Given the description of an element on the screen output the (x, y) to click on. 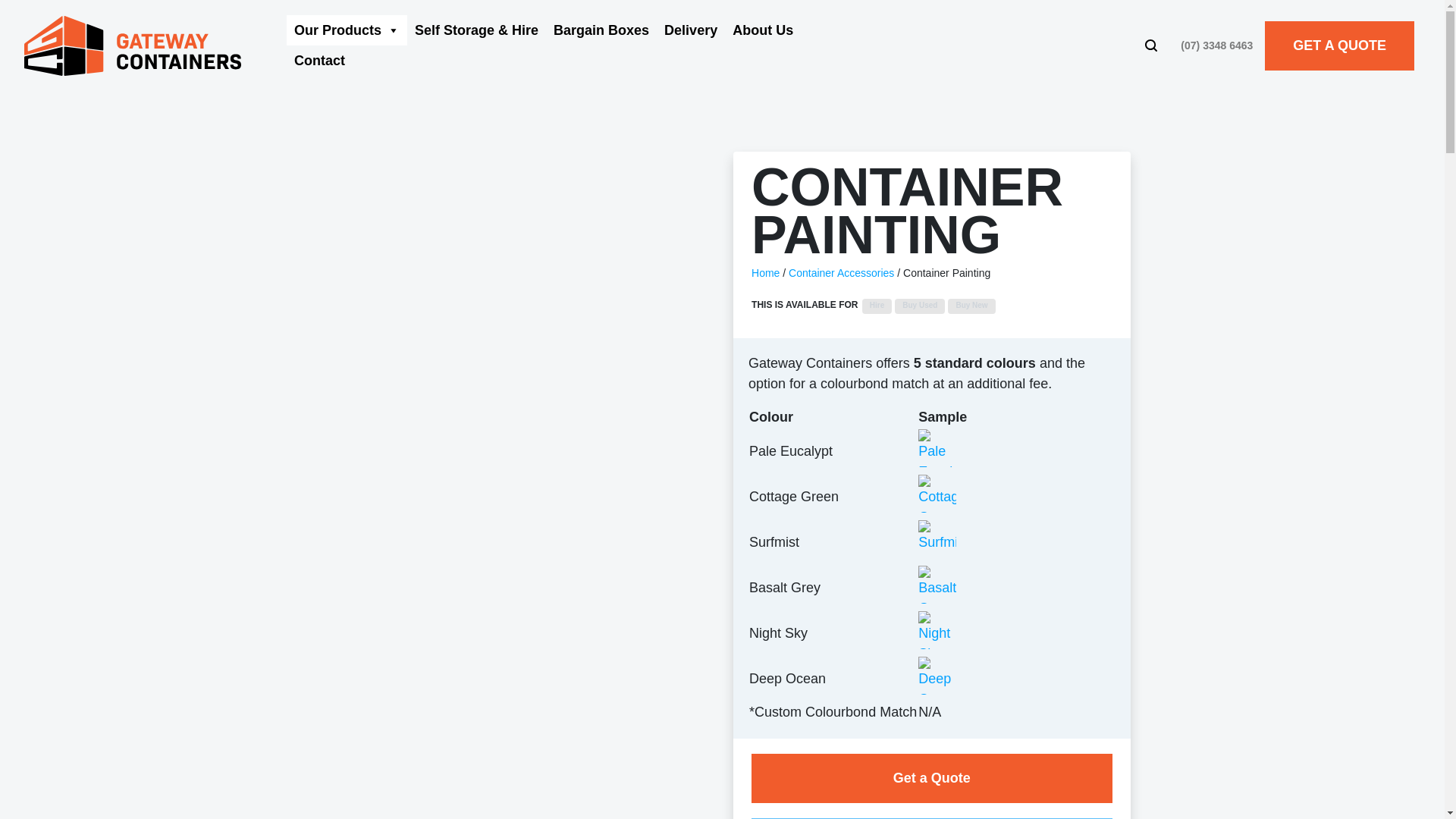
Our Products (346, 30)
GET A QUOTE (1339, 45)
Search (1156, 45)
